Given the description of an element on the screen output the (x, y) to click on. 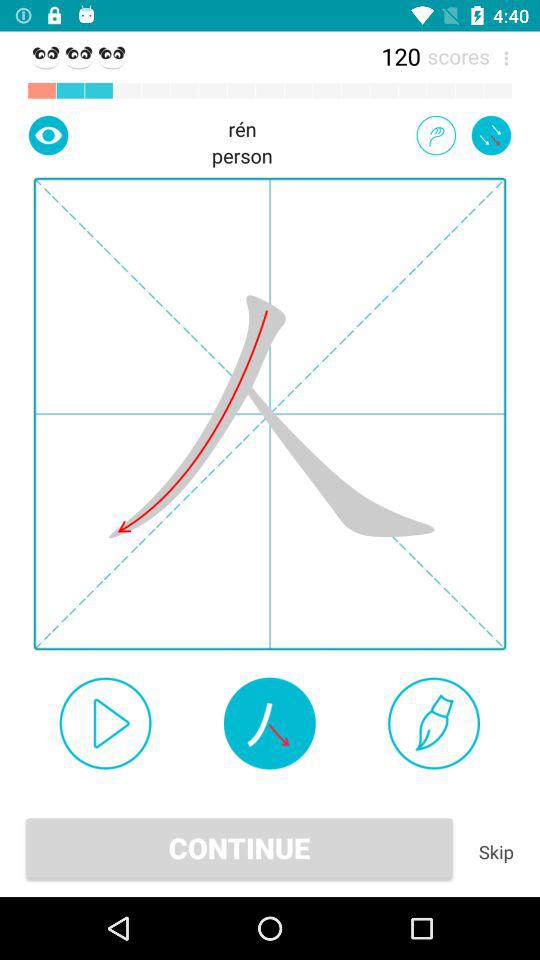
select the icon next to the person item (48, 135)
